Given the description of an element on the screen output the (x, y) to click on. 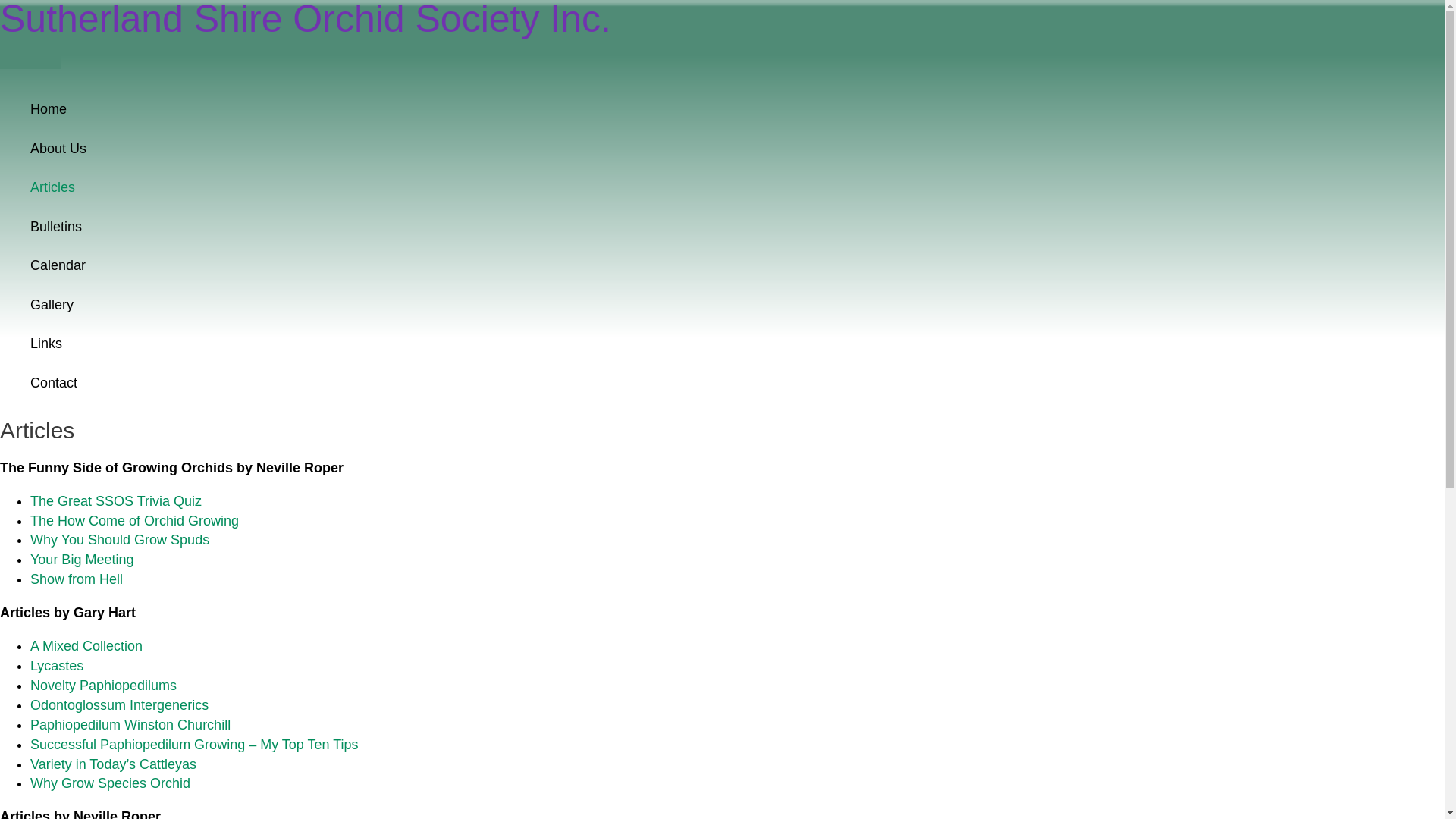
The How Come of Orchid Growing Element type: text (134, 520)
Bulletins Element type: text (485, 226)
About Us Element type: text (485, 148)
Your Big Meeting Element type: text (81, 559)
Contact Element type: text (485, 383)
Paphiopedilum Winston Churchill Element type: text (130, 724)
The Great SSOS Trivia Quiz Element type: text (115, 500)
Odontoglossum Intergenerics Element type: text (119, 704)
Why You Should Grow Spuds Element type: text (119, 539)
Show from Hell Element type: text (76, 578)
A Mixed Collection Element type: text (86, 645)
Gallery Element type: text (485, 304)
Calendar Element type: text (485, 265)
Home Element type: text (485, 109)
Main Menu Element type: text (30, 61)
Why Grow Species Orchid Element type: text (110, 782)
Novelty Paphiopedilums Element type: text (103, 685)
Links Element type: text (485, 343)
Lycastes Element type: text (56, 665)
Articles Element type: text (485, 187)
